Given the description of an element on the screen output the (x, y) to click on. 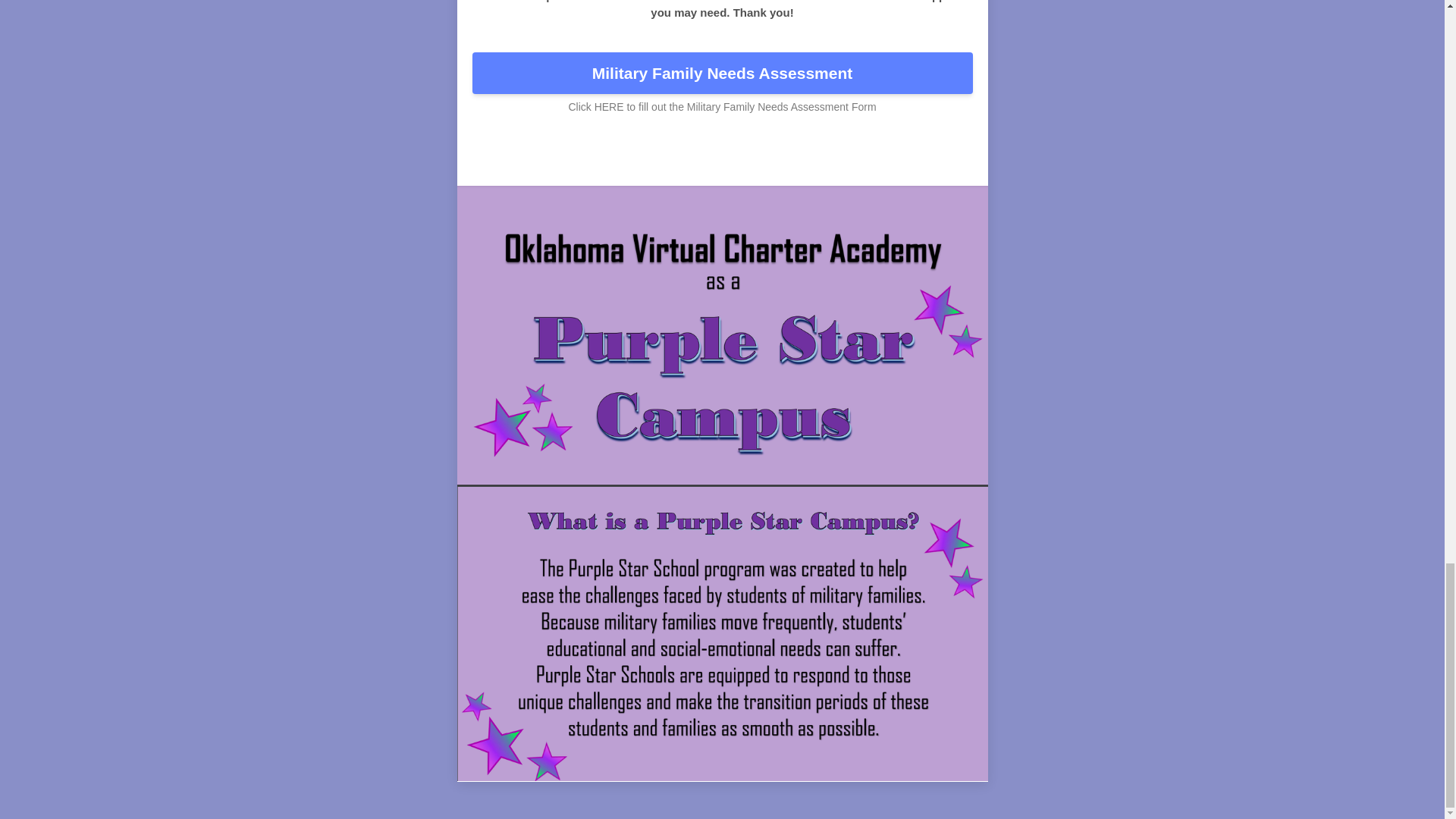
Campus (825, 157)
STAR (761, 157)
Purple (705, 157)
OVCA (612, 157)
Military Family Needs Assessment (721, 73)
